Given the description of an element on the screen output the (x, y) to click on. 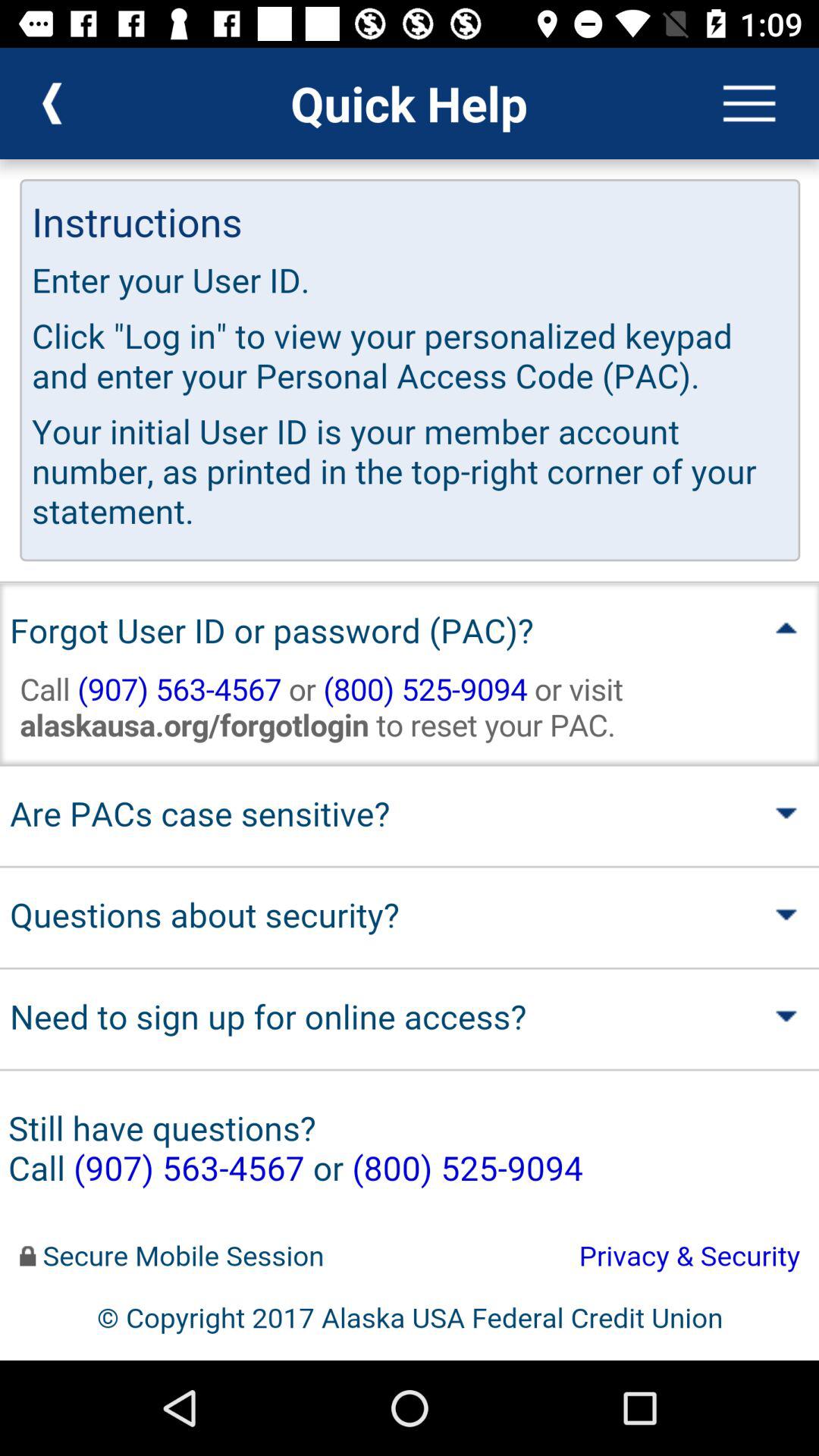
help page (409, 759)
